Given the description of an element on the screen output the (x, y) to click on. 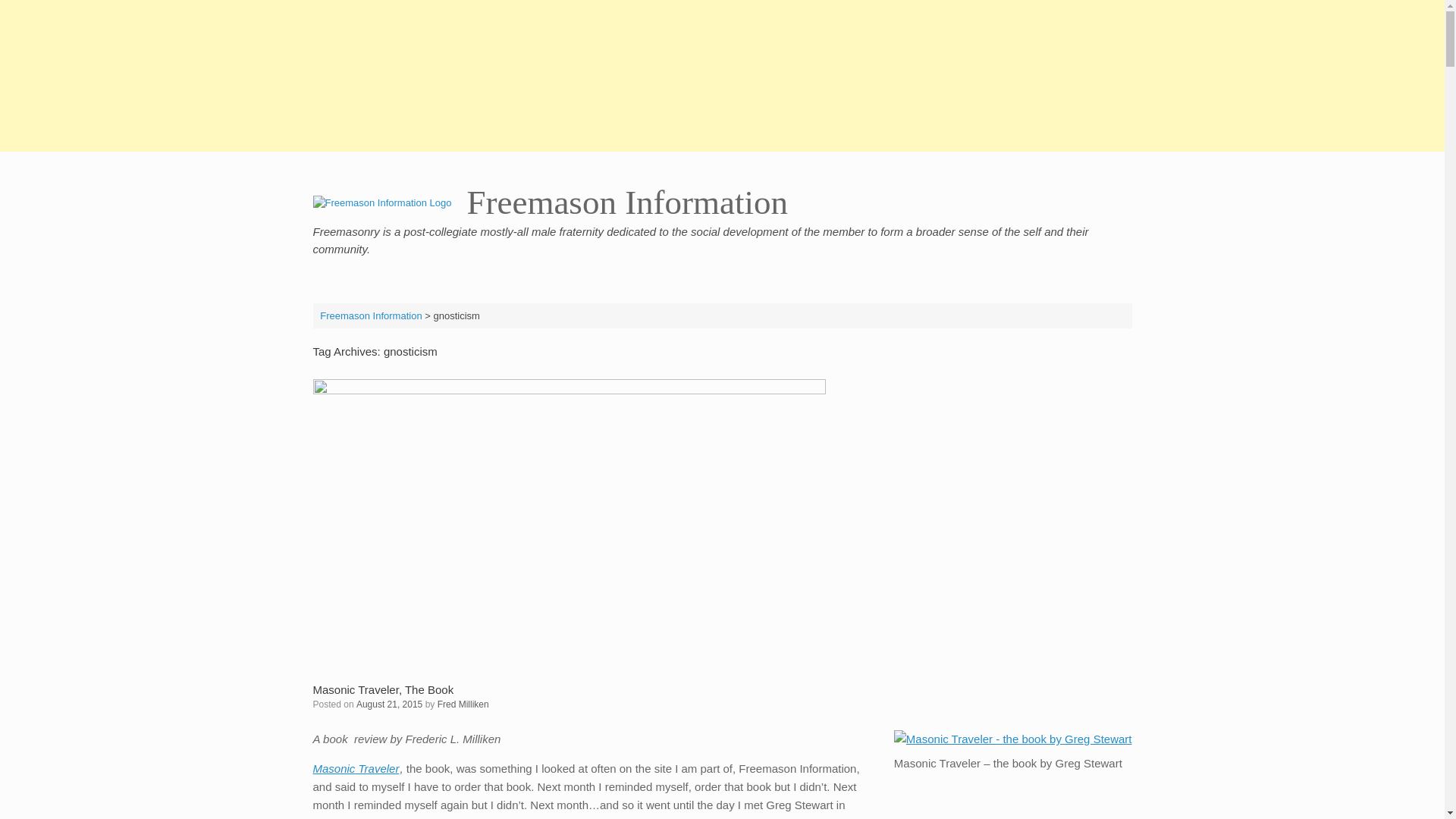
Go to Freemason Information. (371, 315)
Freemason Information (550, 202)
Masonic Traveler (355, 768)
Freemason Information (371, 315)
Fred Milliken (463, 704)
August 21, 2015 (389, 704)
Permalink to Masonic Traveler, The Book (382, 689)
8:00 am (389, 704)
Freemason Information (550, 202)
View all posts by Fred Milliken (463, 704)
Masonic Traveler, The Book (382, 689)
